Given the description of an element on the screen output the (x, y) to click on. 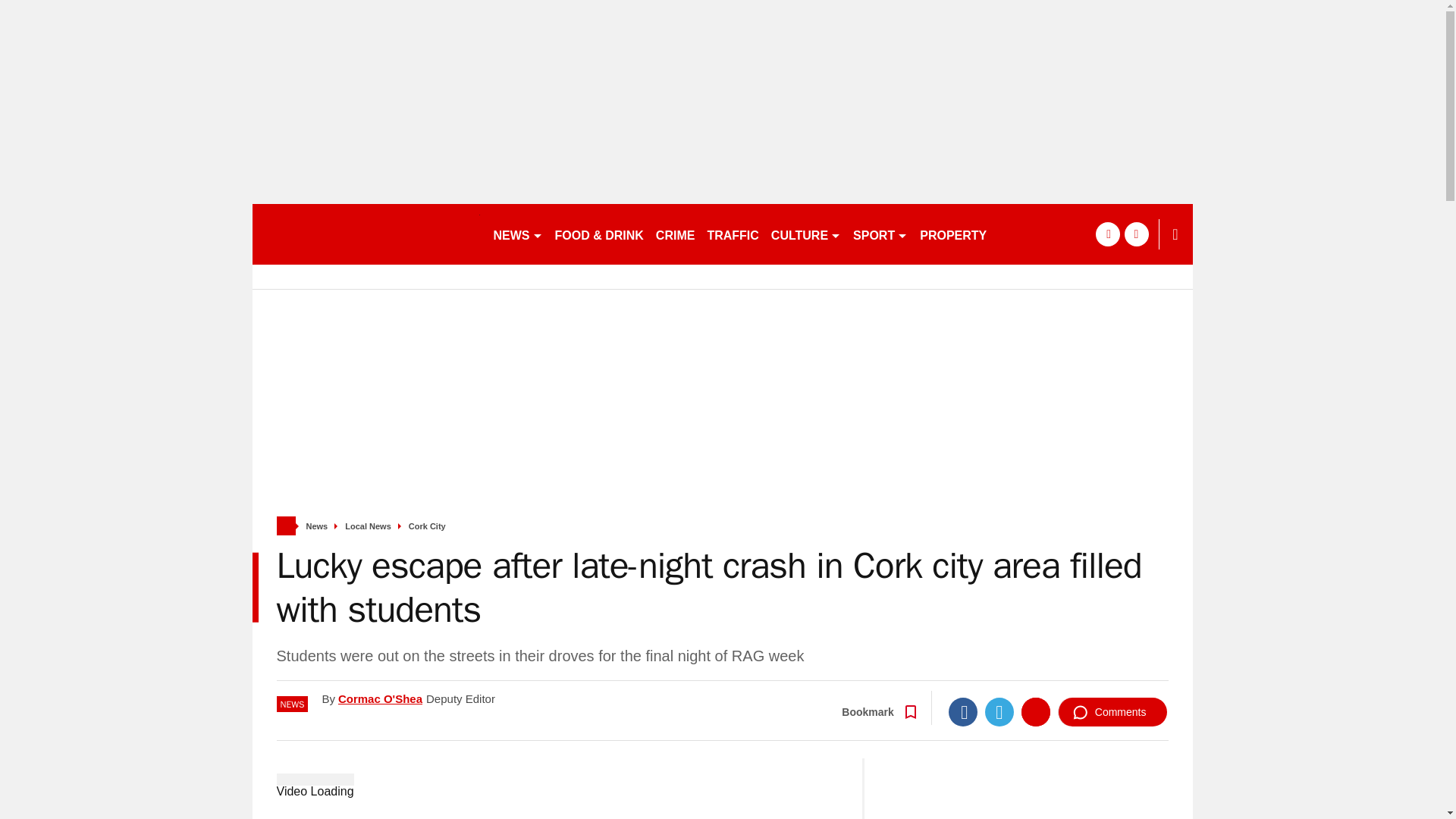
Facebook (962, 711)
BUSINESS (1029, 233)
corklive (365, 233)
facebook (1106, 233)
twitter (1136, 233)
NEWS (517, 233)
PROPERTY (953, 233)
CULTURE (806, 233)
Comments (1112, 711)
Twitter (999, 711)
